Given the description of an element on the screen output the (x, y) to click on. 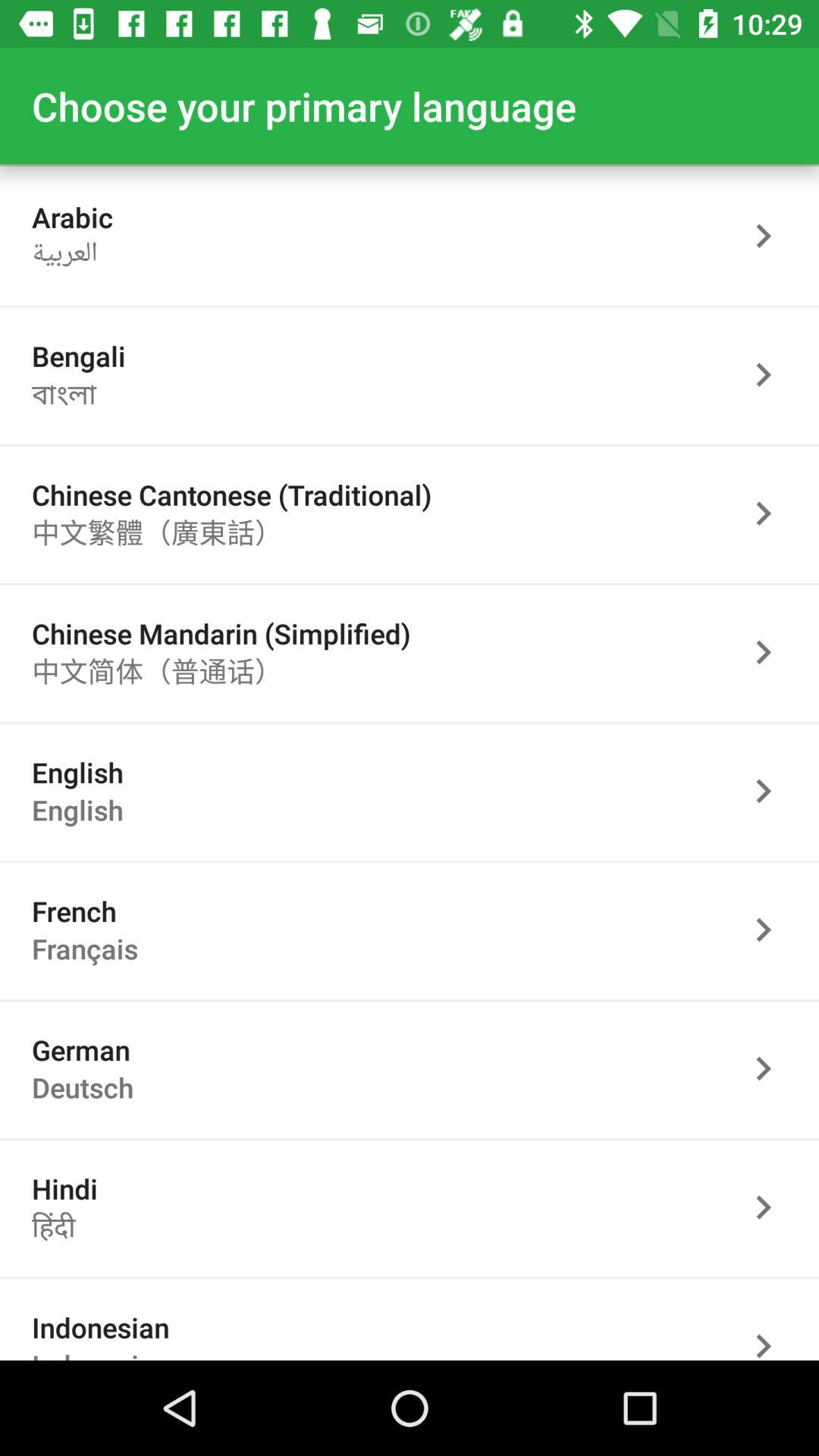
pick language option (771, 1325)
